Given the description of an element on the screen output the (x, y) to click on. 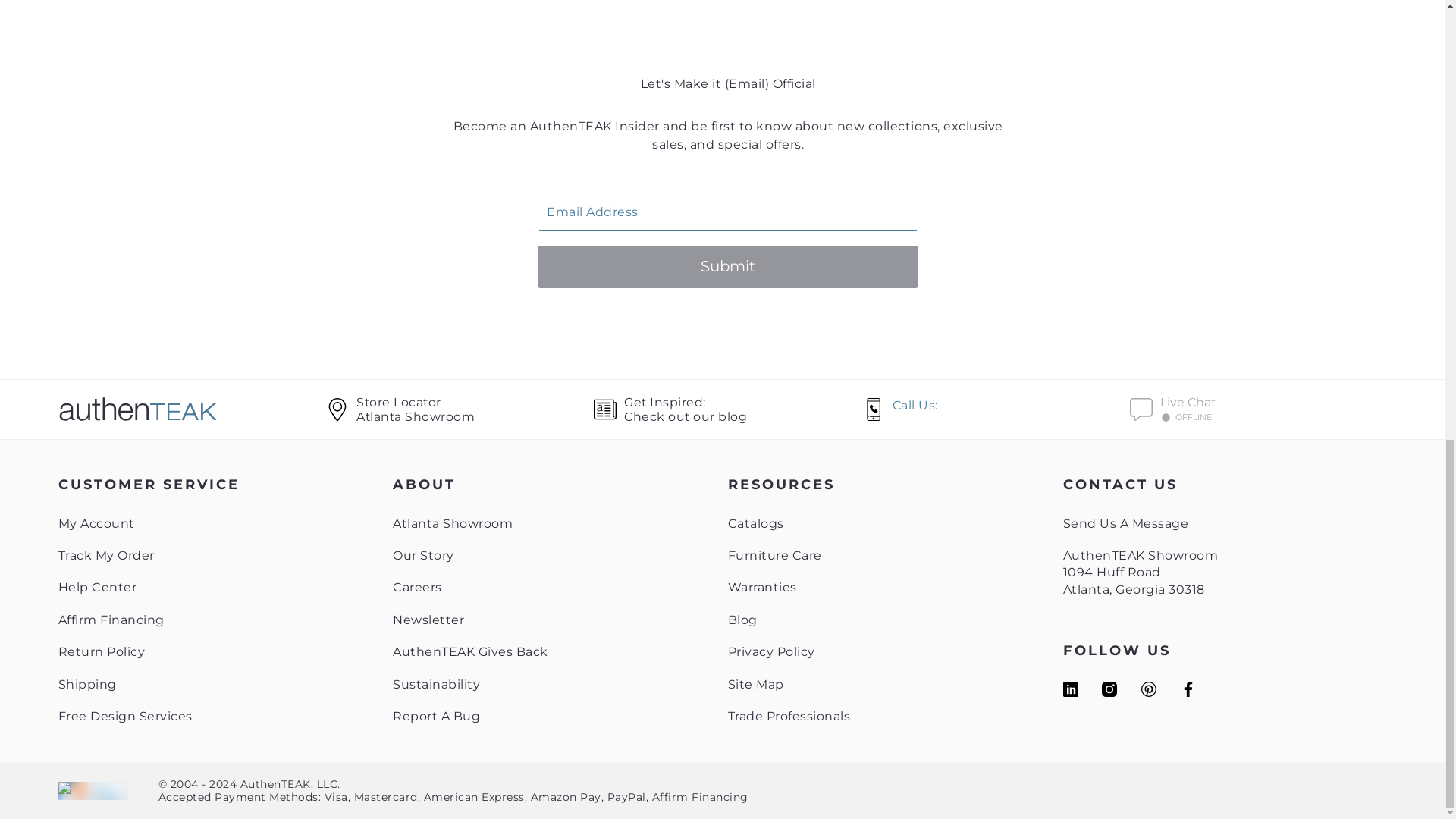
Track My Order (106, 554)
Submit (727, 266)
Our Story (423, 554)
My Account (96, 523)
authenteak.com (192, 408)
Atlanta Showroom (452, 523)
Shipping (87, 684)
Newsletter (428, 619)
Careers (417, 586)
Report A Bug (436, 716)
Sustainability (436, 684)
Help Center (97, 586)
Call Us: (1263, 408)
